Given the description of an element on the screen output the (x, y) to click on. 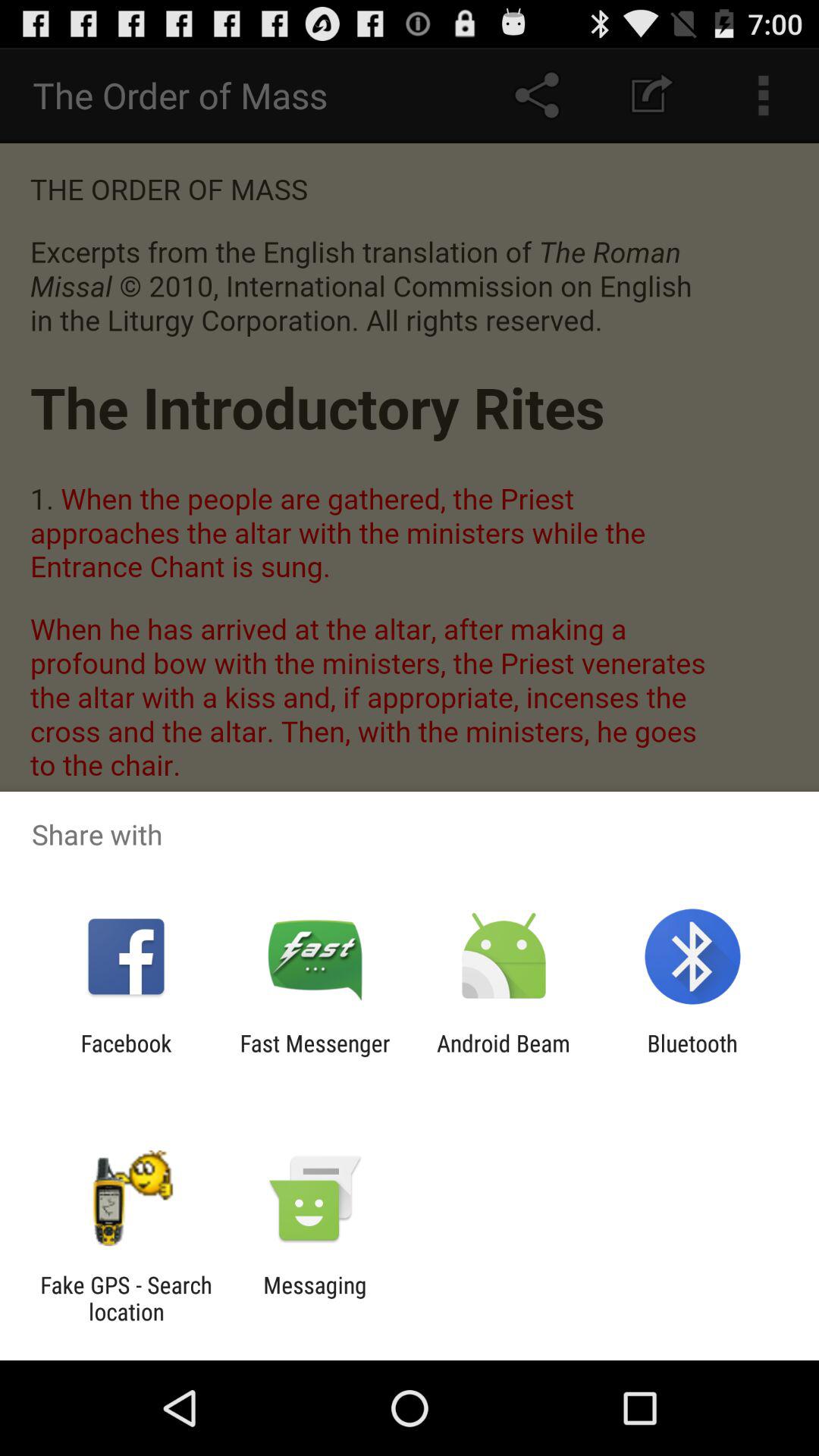
turn on the icon next to fast messenger app (503, 1056)
